Given the description of an element on the screen output the (x, y) to click on. 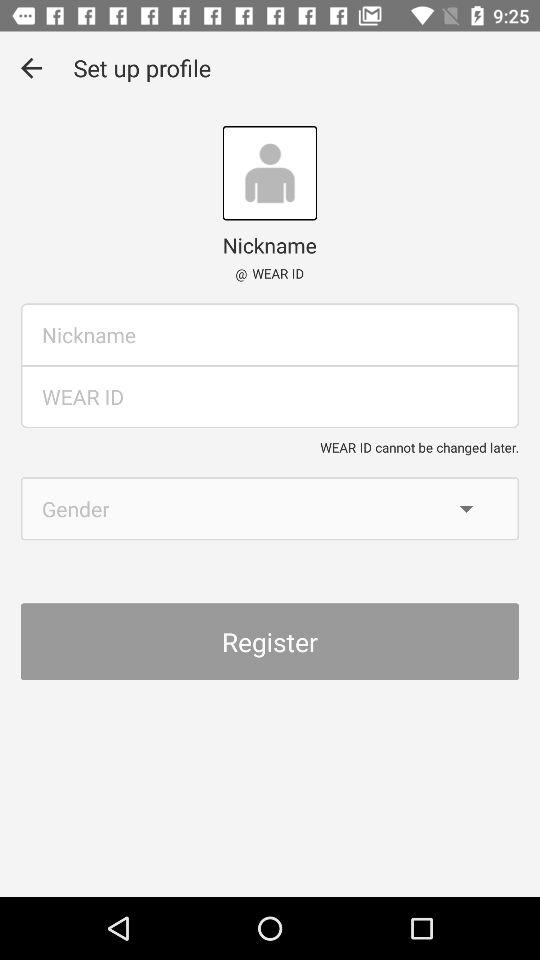
go back (31, 68)
